Given the description of an element on the screen output the (x, y) to click on. 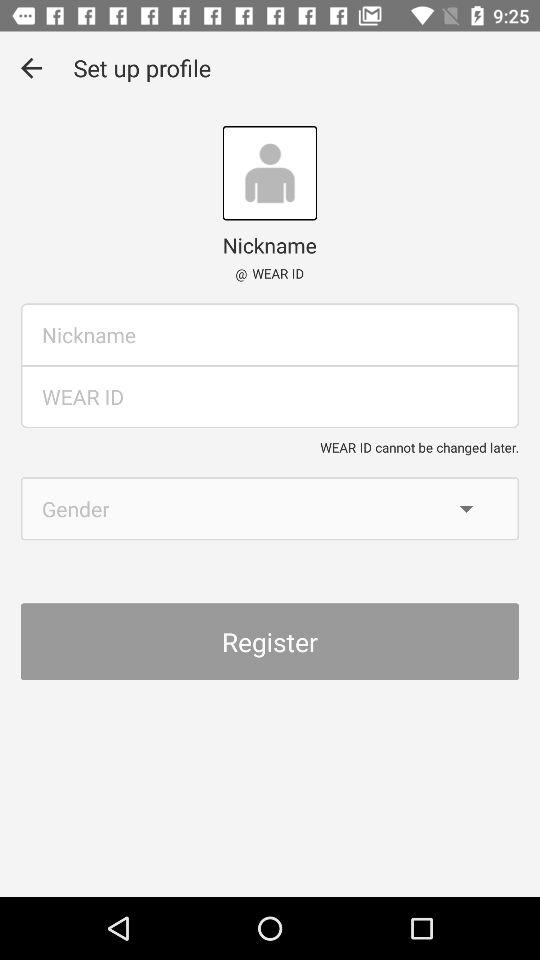
go back (31, 68)
